Given the description of an element on the screen output the (x, y) to click on. 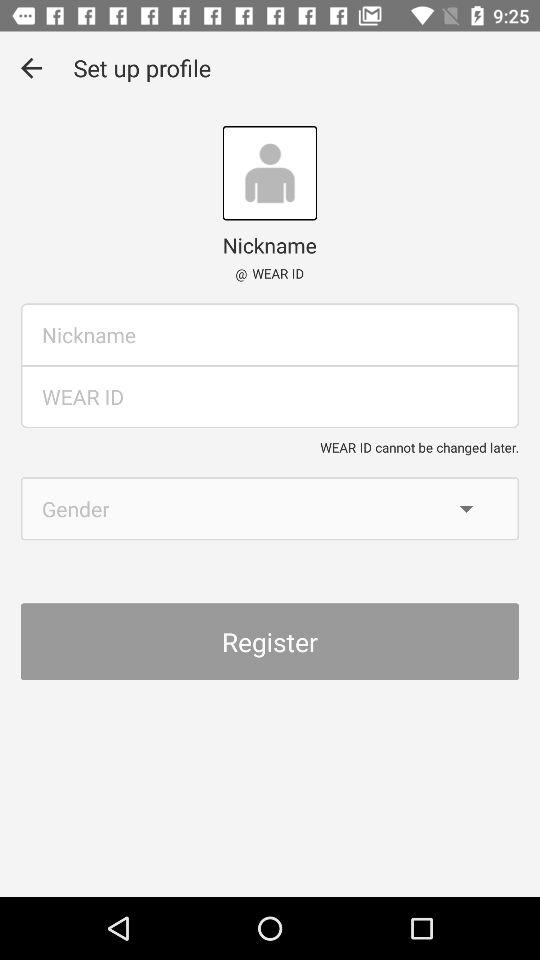
go back (31, 68)
